Given the description of an element on the screen output the (x, y) to click on. 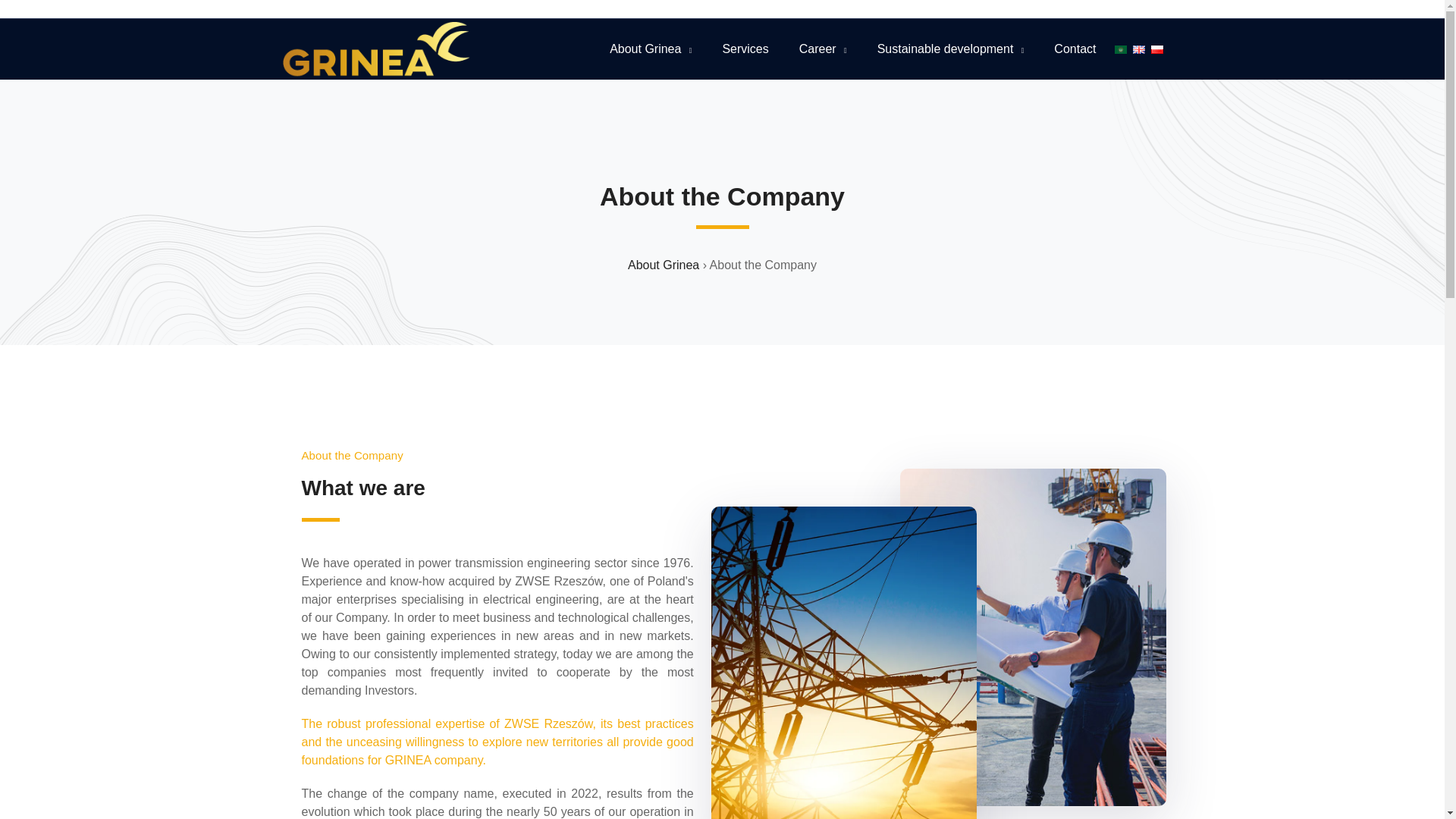
About Grinea (650, 48)
Grinea Sp. z o.o. (375, 47)
About Grinea (662, 264)
About Grinea (662, 264)
Sustainable development (951, 48)
